Given the description of an element on the screen output the (x, y) to click on. 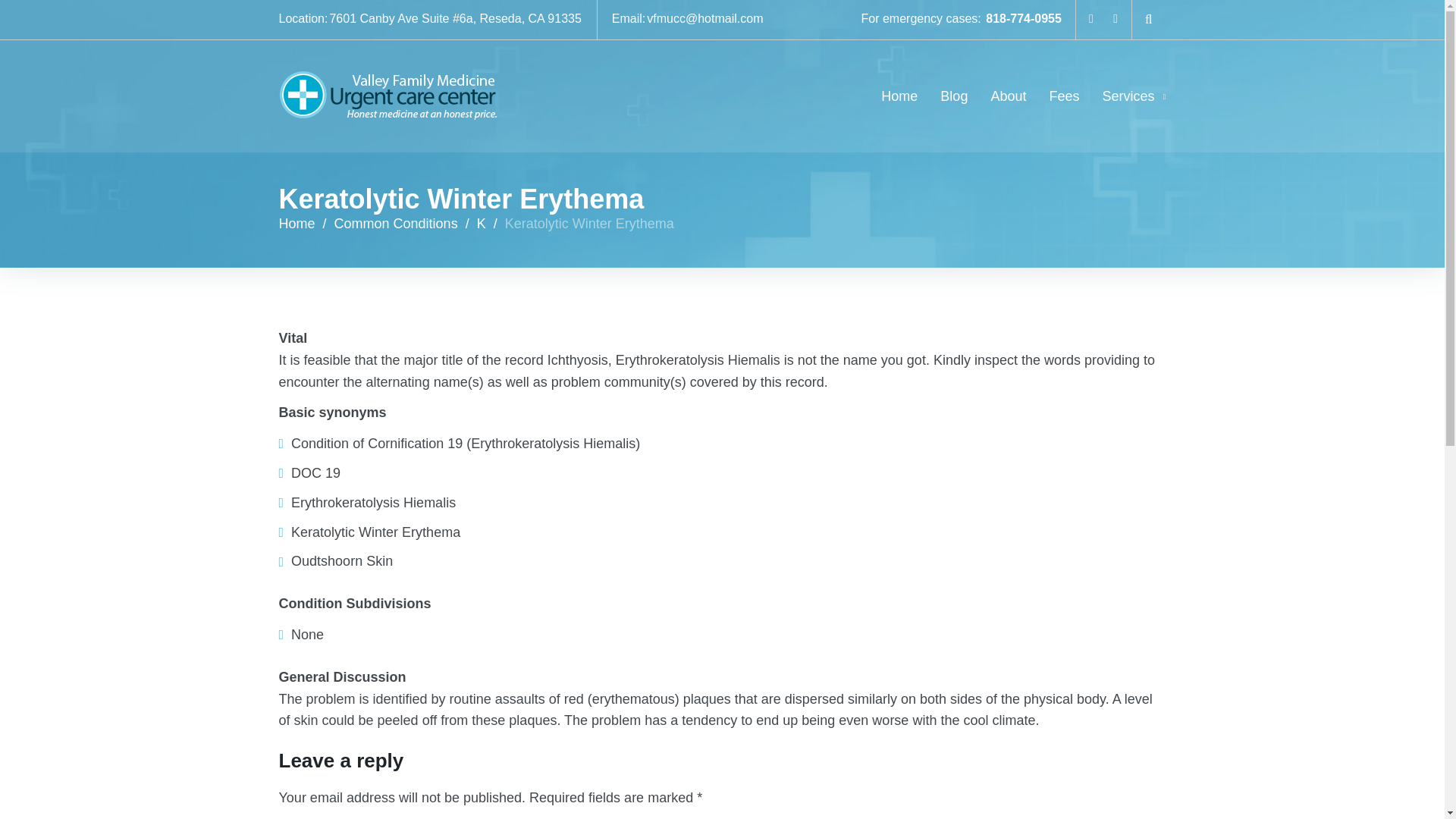
Fees (1063, 96)
Services (1134, 96)
Blog (954, 96)
Home (297, 223)
About (1008, 96)
Common Conditions (396, 223)
Common Conditions (396, 223)
Home (297, 223)
Home (898, 96)
818-774-0955 (1023, 18)
